Given the description of an element on the screen output the (x, y) to click on. 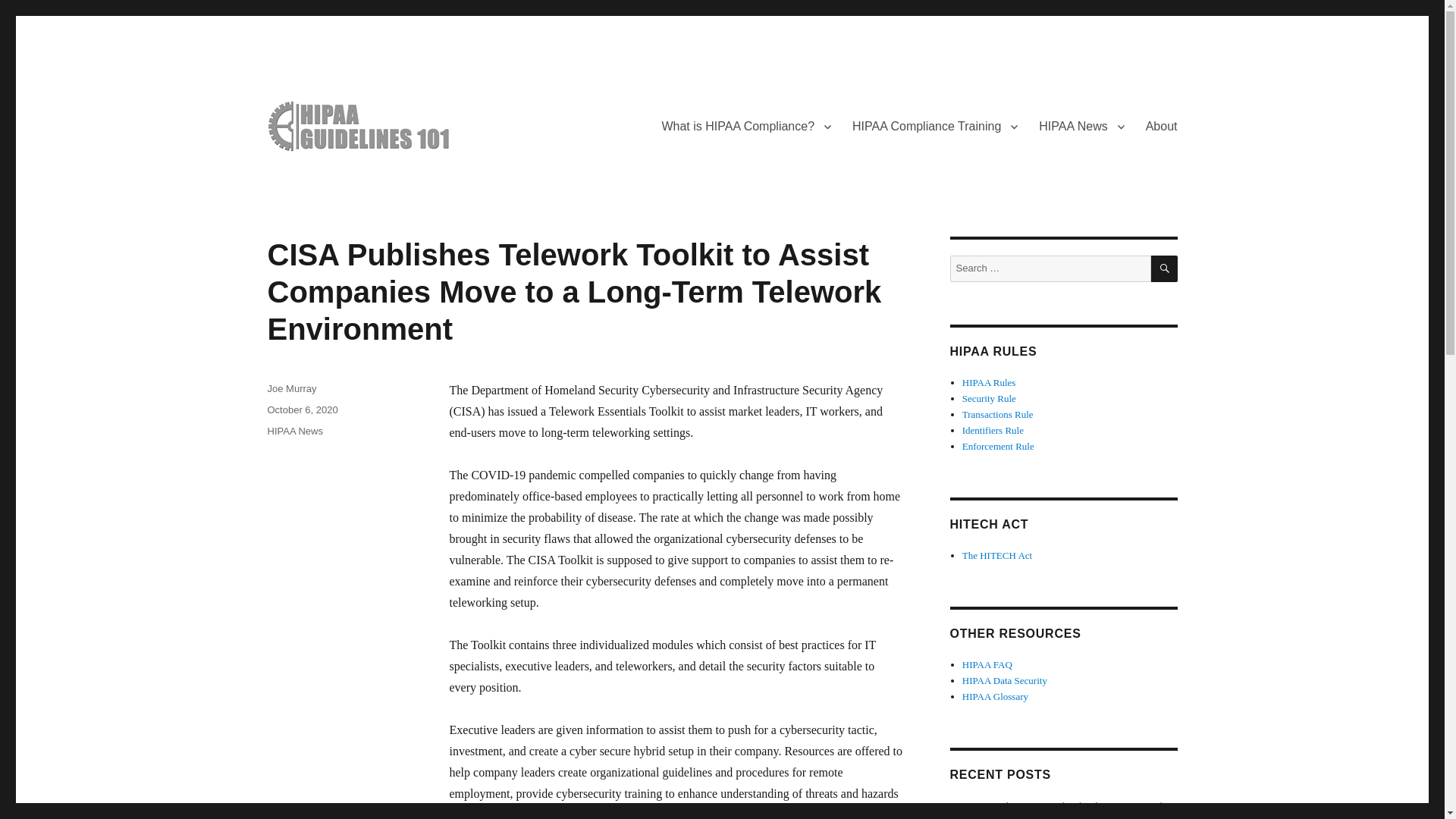
What is HIPAA Compliance? (745, 126)
Security Rule (989, 398)
HIPAA Rules (989, 382)
RansomHub Group Attacks Florida Department of Health Data (1061, 809)
HIPAA Compliance Training (934, 126)
HIPAA News (1080, 126)
SEARCH (1164, 268)
October 6, 2020 (301, 409)
HIPAA 101 (319, 175)
The HITECH Act (997, 555)
